Given the description of an element on the screen output the (x, y) to click on. 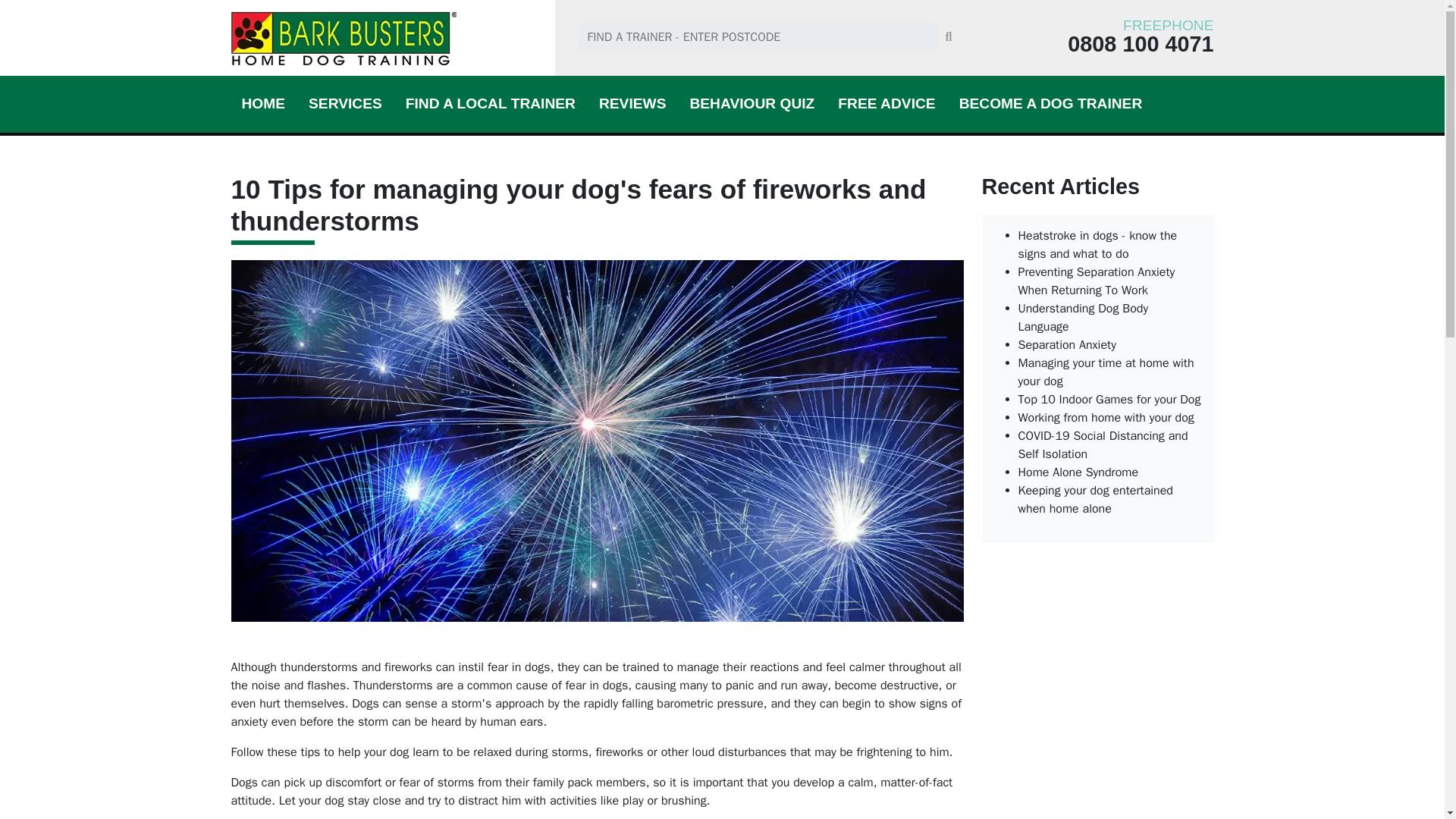
HOME (262, 103)
Managing your time at home with your dog (1105, 372)
REVIEWS (632, 103)
Preventing Separation Anxiety When Returning To Work (1095, 281)
Working from home with your dog (1105, 417)
Free Dog Training Tips on Dog Behaviour Problems (885, 103)
BECOME A DOG TRAINER (1051, 103)
Free Dog Behaviour Quiz by Bark Busters Dog Training (751, 103)
Home Alone Syndrome (1077, 472)
FIND A LOCAL TRAINER (490, 103)
Top 10 Indoor Games for your Dog (1108, 399)
Heatstroke in dogs - know the signs and what to do (1096, 244)
COVID-19 Social Distancing and Self Isolation (1102, 444)
Understanding Dog Body Language (1082, 317)
BEHAVIOUR QUIZ (751, 103)
